Given the description of an element on the screen output the (x, y) to click on. 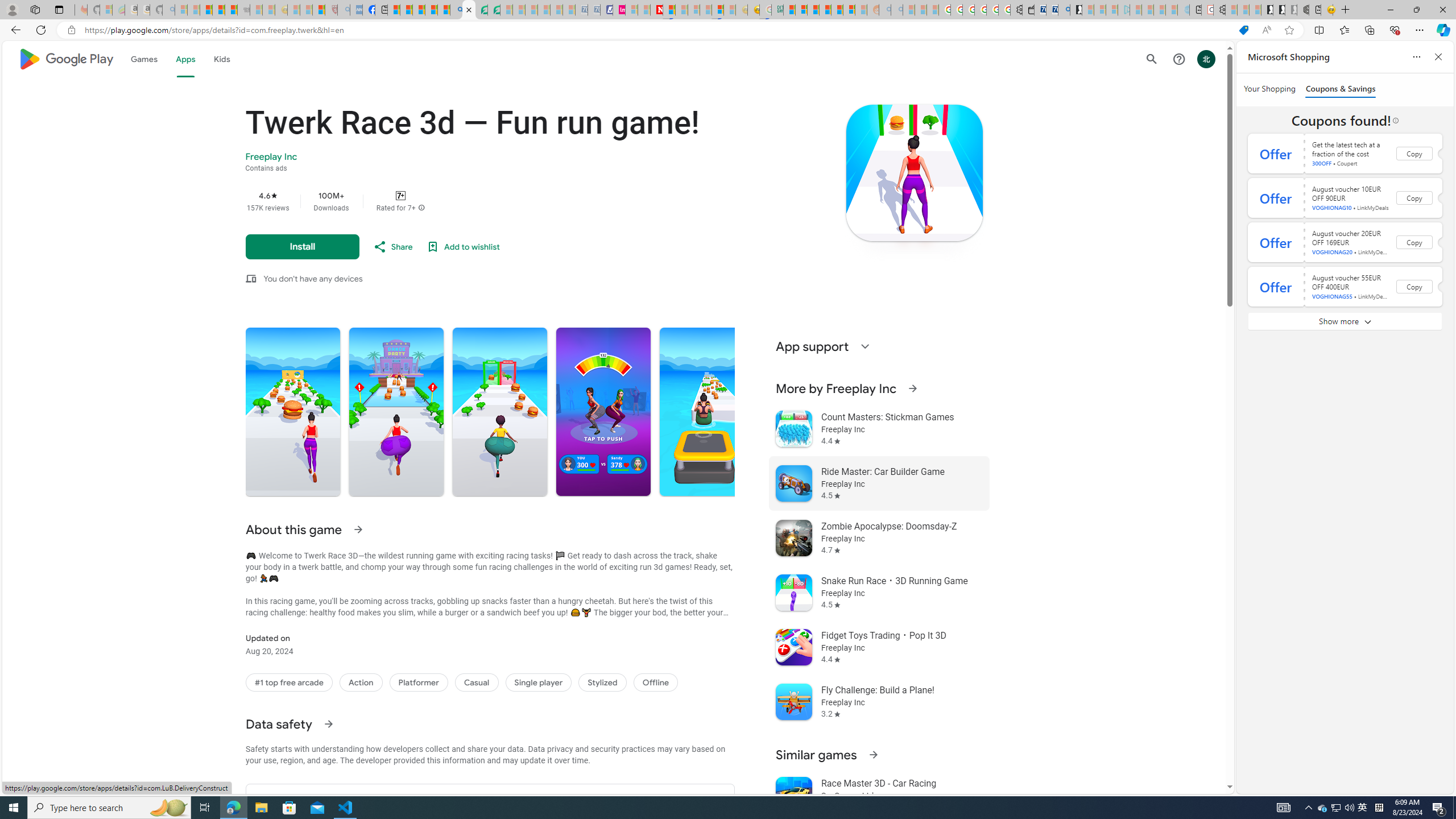
Tab actions menu (58, 9)
Robert H. Shmerling, MD - Harvard Health - Sleeping (331, 9)
Microsoft Start (418, 9)
Action (360, 682)
Combat Siege (243, 9)
Expand (864, 346)
See more information on Data safety (328, 723)
Add to wishlist (462, 246)
